Given the description of an element on the screen output the (x, y) to click on. 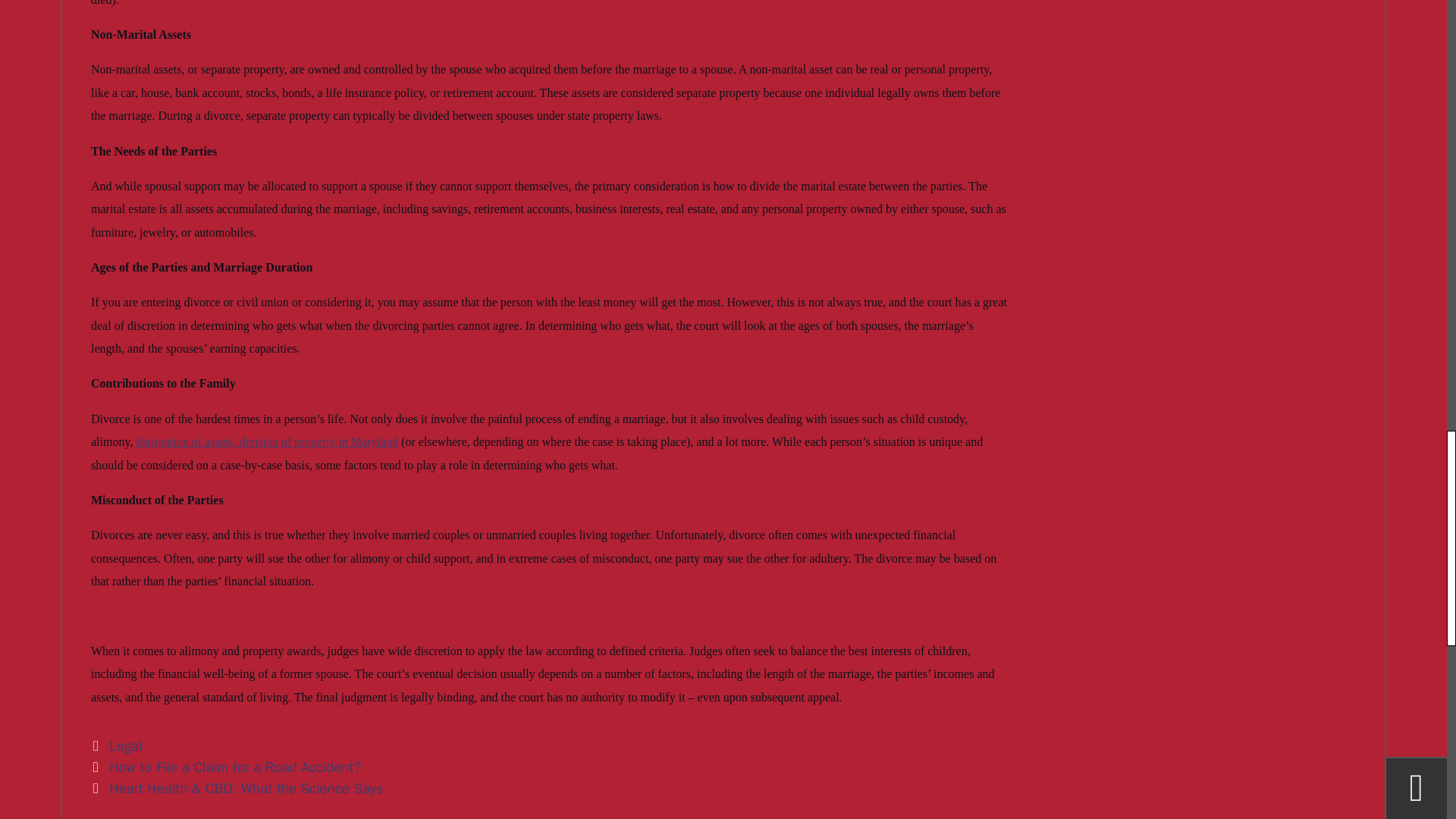
Previous (225, 767)
Legal (125, 746)
How to File a Claim for a Road Accident? (235, 767)
Next (237, 788)
dissipation of assets, division of property in Maryland (266, 440)
